Given the description of an element on the screen output the (x, y) to click on. 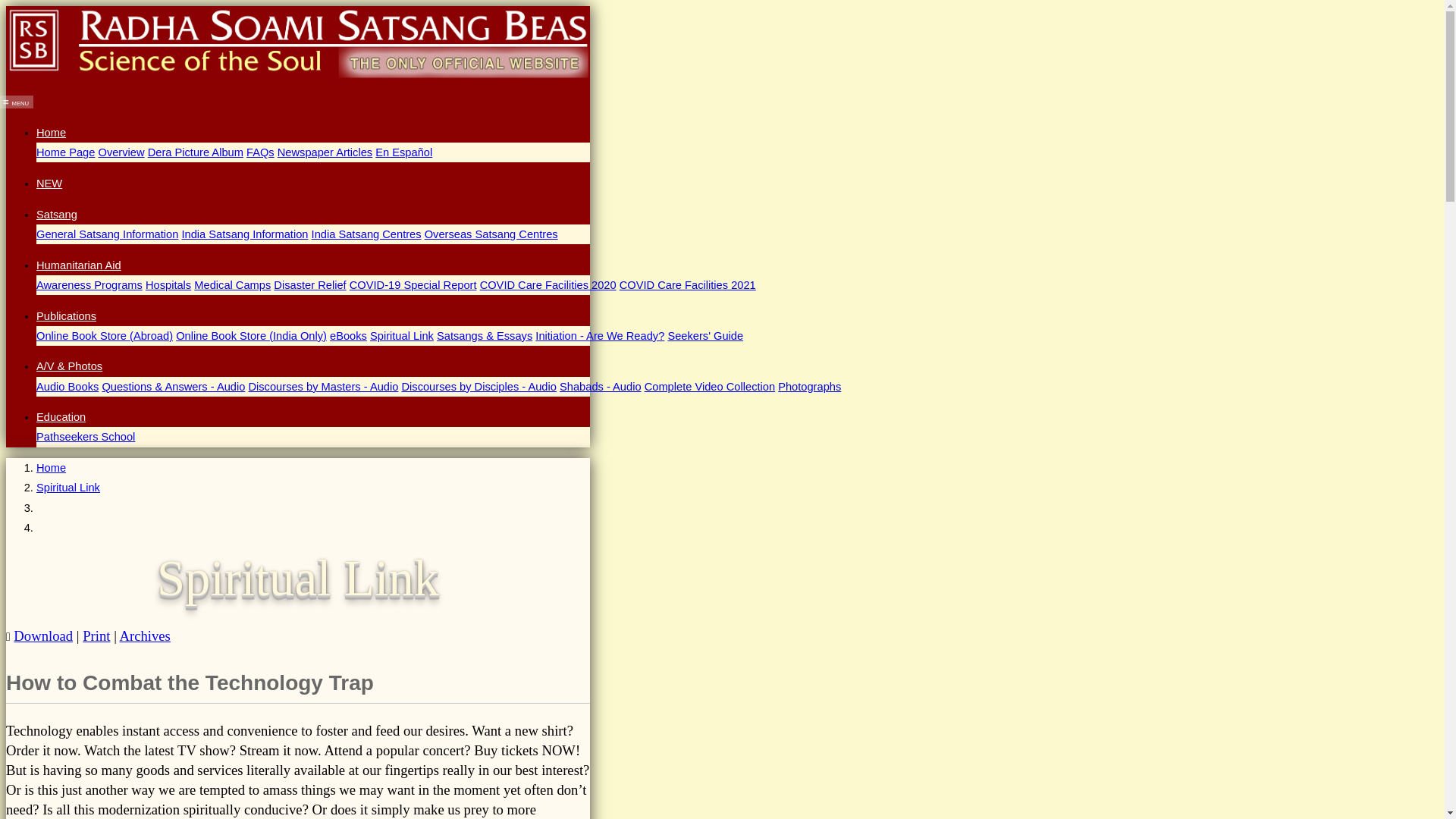
Awareness Programs (89, 285)
Newspaper Articles (325, 152)
Medical Camps (231, 285)
eBooks (348, 336)
Overseas Satsang Centres (491, 234)
Disaster Relief (309, 285)
Dera Picture Album (195, 152)
Seekers' Guide (704, 336)
Photographs (809, 386)
Publications (66, 316)
